Given the description of an element on the screen output the (x, y) to click on. 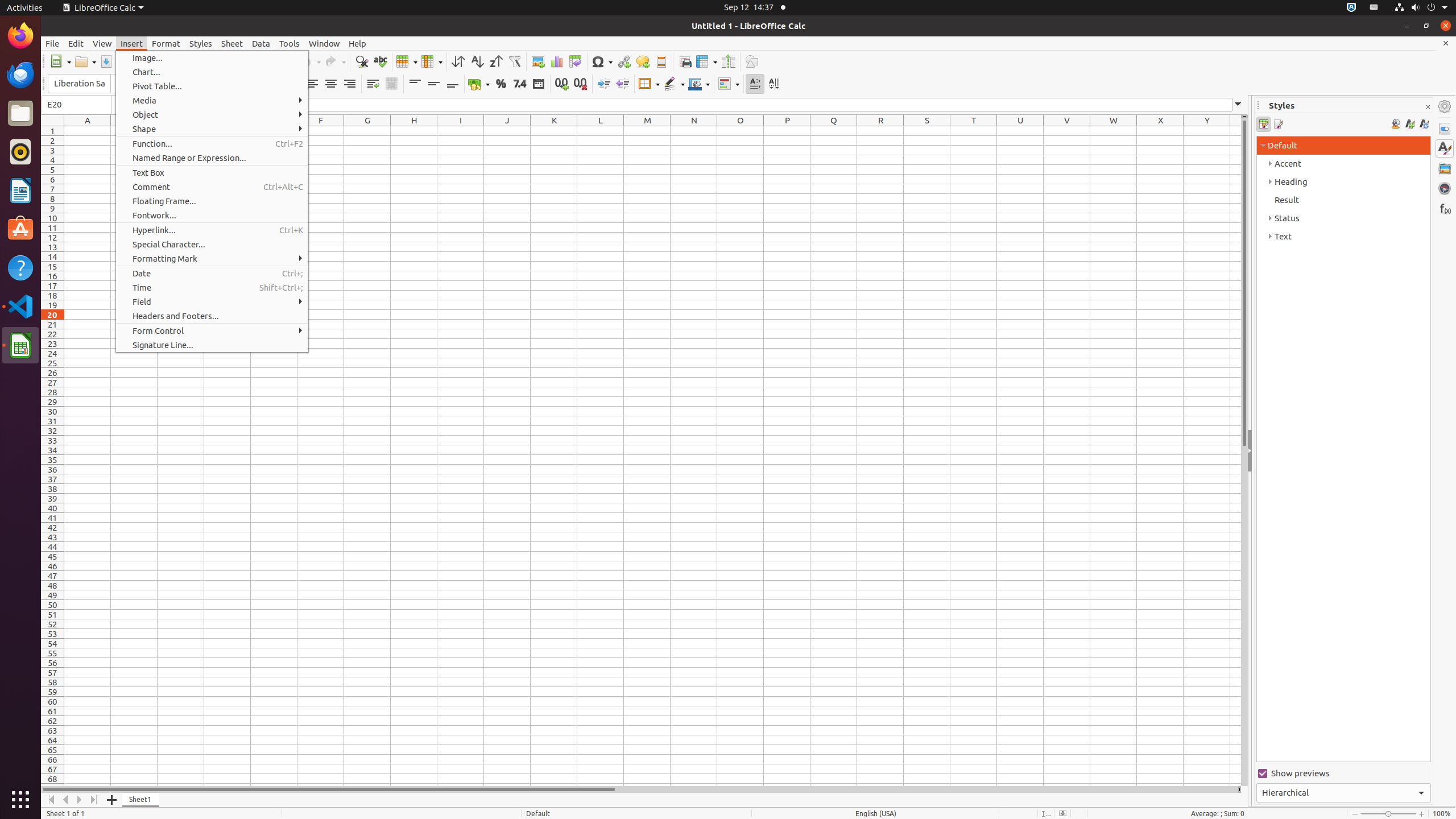
Field Element type: menu (212, 301)
W1 Element type: table-cell (1113, 130)
Styles Element type: radio-button (1444, 148)
Styles Element type: menu (200, 43)
M1 Element type: table-cell (646, 130)
